Given the description of an element on the screen output the (x, y) to click on. 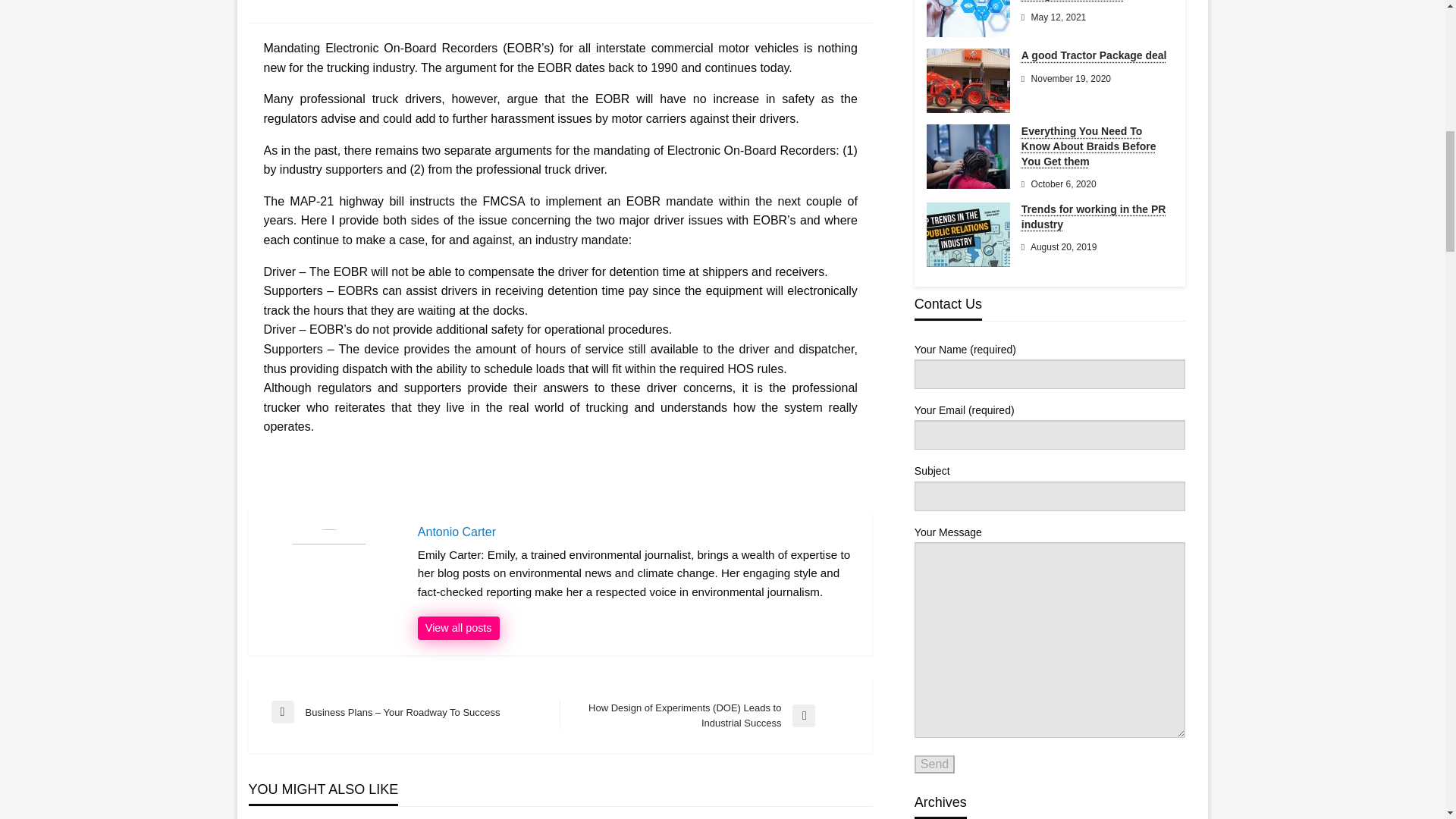
Send (934, 764)
Antonio Carter (637, 531)
Antonio Carter (458, 628)
Antonio Carter (637, 531)
View all posts (458, 628)
